Given the description of an element on the screen output the (x, y) to click on. 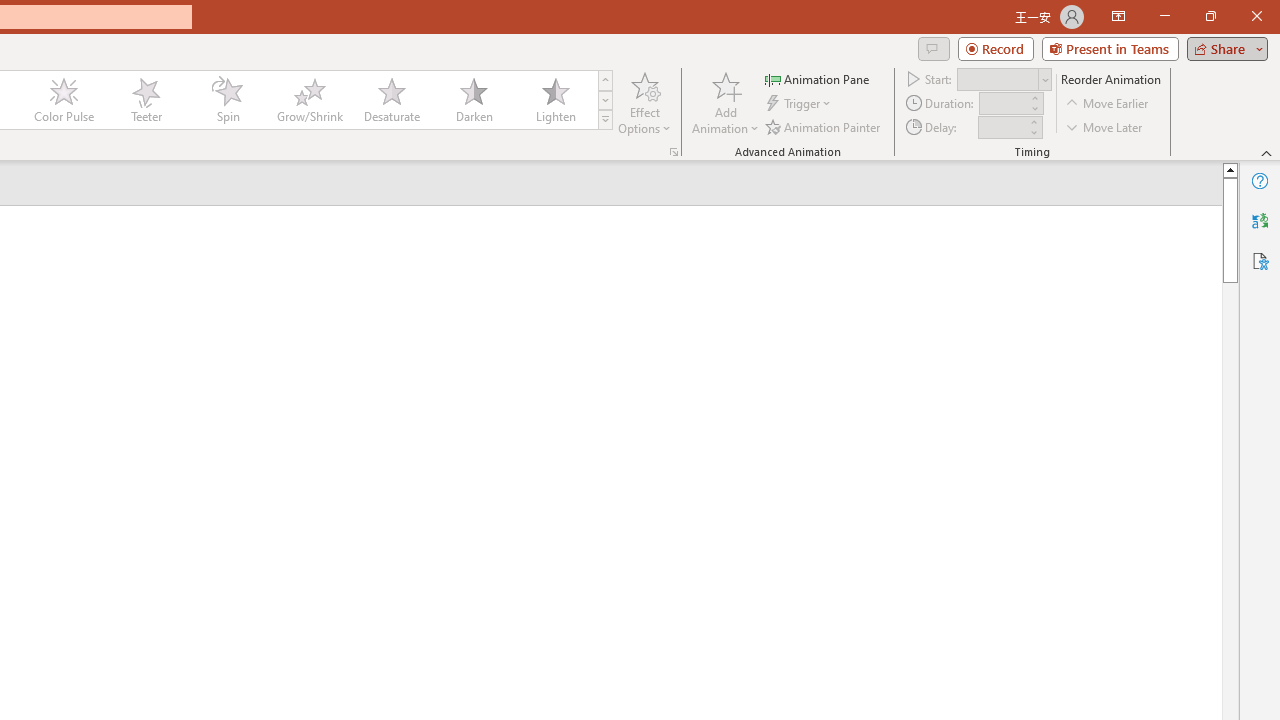
Spin (227, 100)
Color Pulse (63, 100)
Animation Painter (824, 126)
Effect Options (644, 102)
Animation Delay (1002, 127)
Darken (473, 100)
Desaturate (391, 100)
Move Earlier (1107, 103)
More Options... (673, 151)
